Given the description of an element on the screen output the (x, y) to click on. 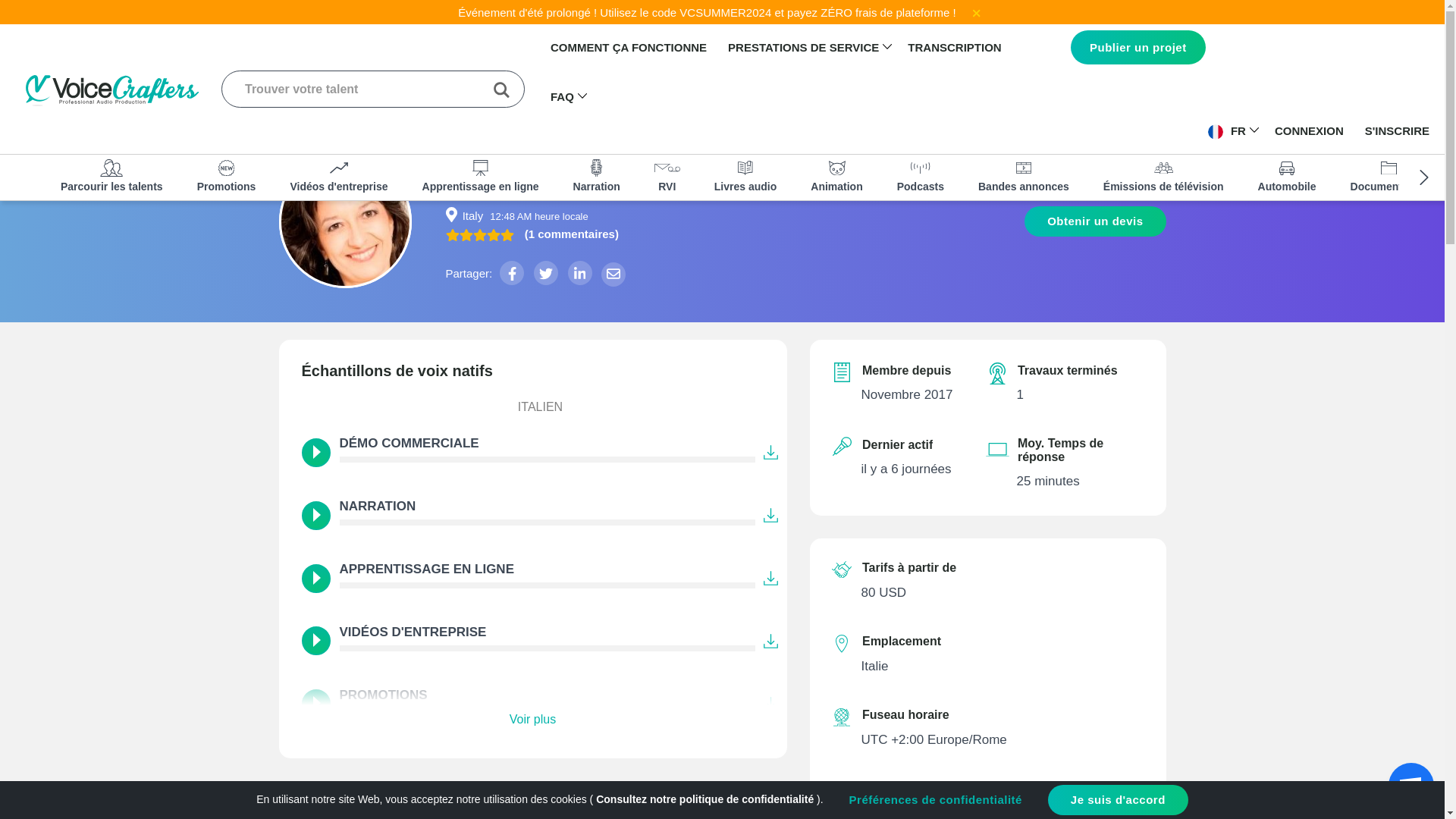
Masquer les notifications (976, 12)
PRESTATIONS DE SERVICE (803, 49)
ITALIEN (532, 408)
Je suis d'accord (1118, 799)
Partager via LinkedIn (579, 273)
Partager via Facebook (511, 273)
Partager sur Twitter (545, 273)
